Given the description of an element on the screen output the (x, y) to click on. 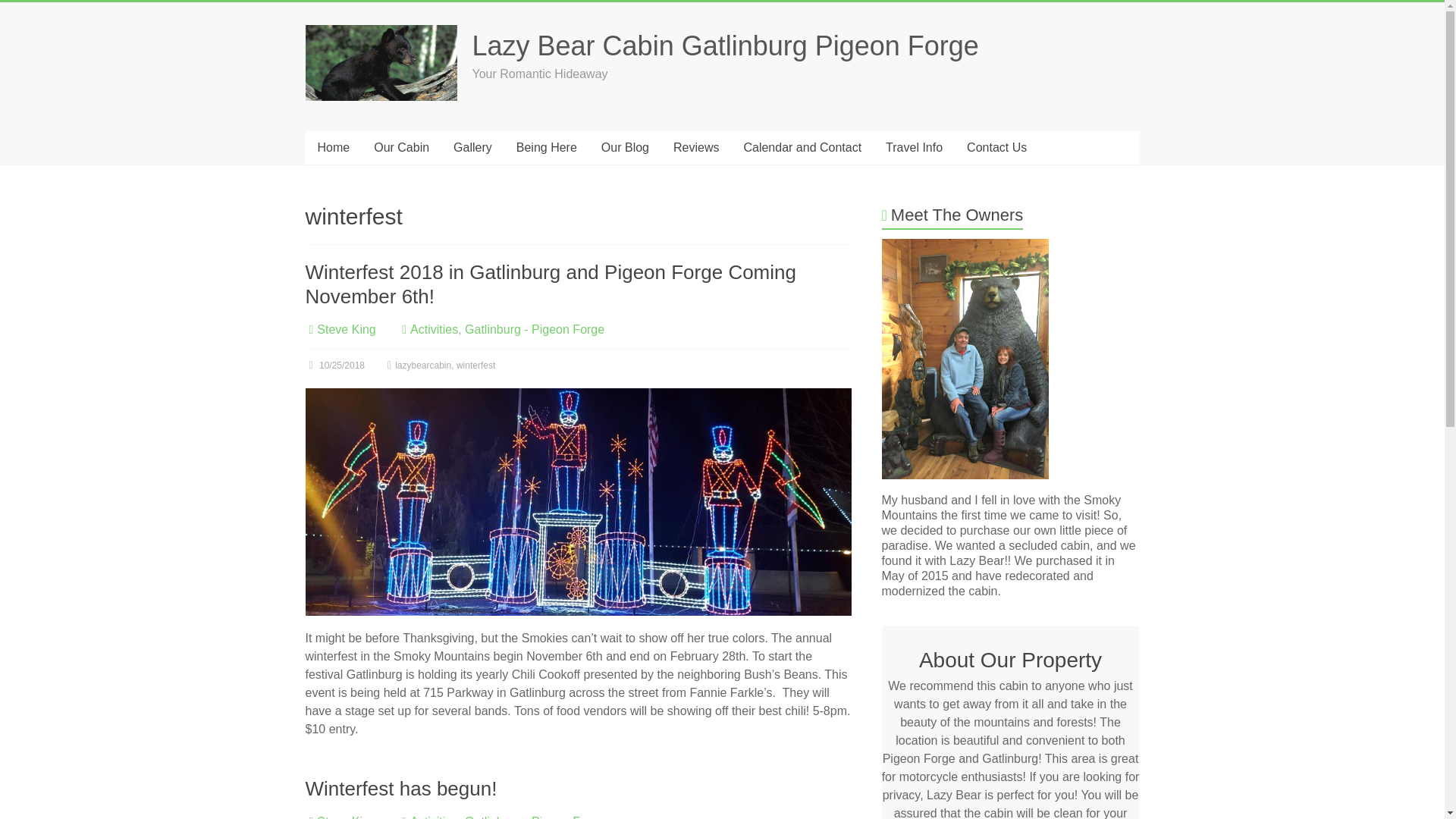
4:25 PM (334, 365)
Gallery (472, 147)
Lazy Bear Cabin Gatlinburg Pigeon Forge (724, 45)
Winterfest has begun! (400, 788)
Gatlinburg - Pigeon Forge (534, 328)
Activities (434, 328)
Being Here (546, 147)
Steve King (346, 328)
Winterfest has begun! (400, 788)
Gatlinburg - Pigeon Forge (534, 816)
